Given the description of an element on the screen output the (x, y) to click on. 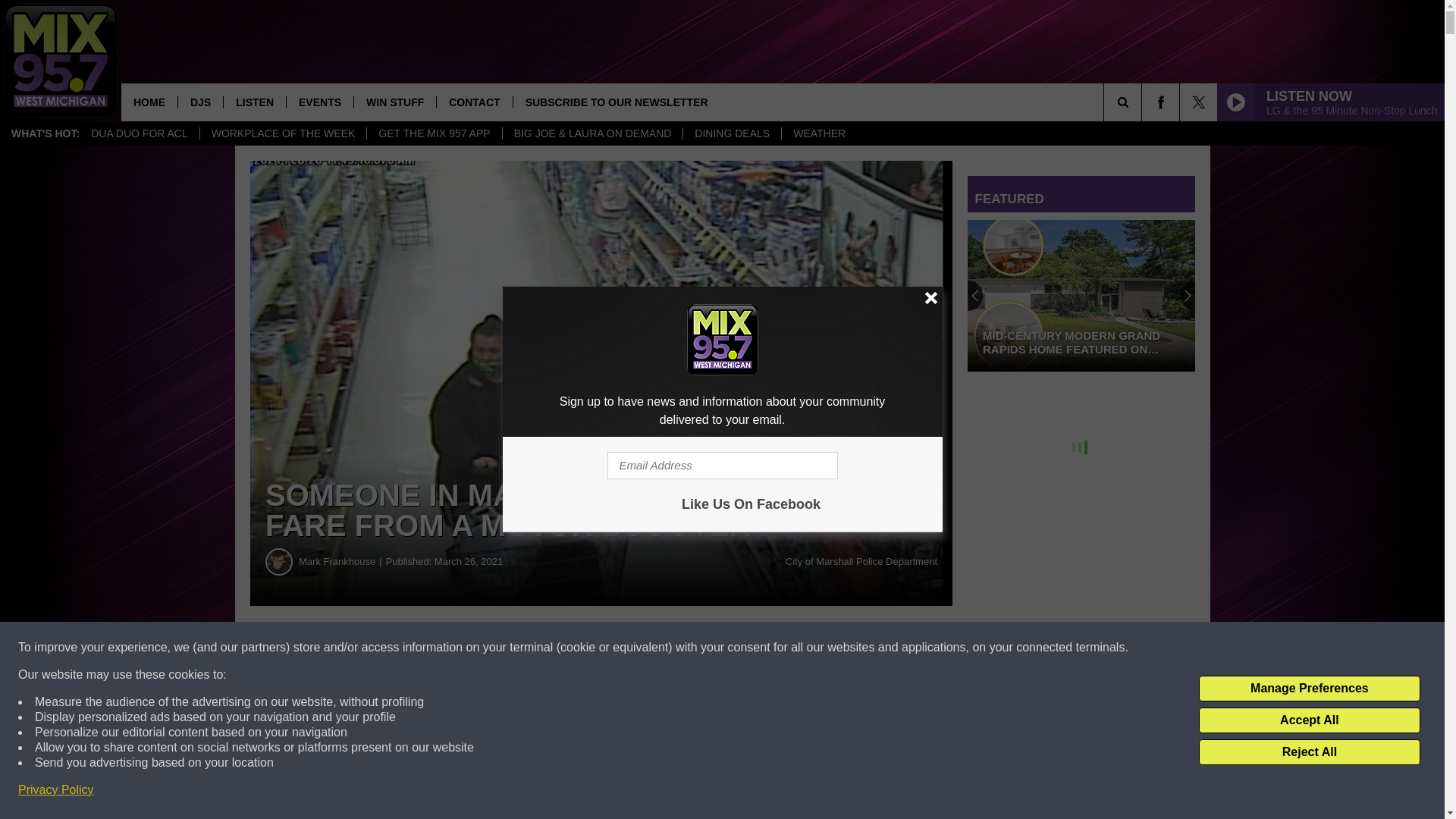
Share on Facebook (460, 647)
DINING DEALS (731, 133)
HOME (148, 102)
WORKPLACE OF THE WEEK (282, 133)
SEARCH (1144, 102)
CONTACT (473, 102)
Share on Twitter (741, 647)
Privacy Policy (55, 789)
EVENTS (319, 102)
WEATHER (818, 133)
Manage Preferences (1309, 688)
SEARCH (1144, 102)
LISTEN (253, 102)
Reject All (1309, 751)
Email Address (722, 465)
